Given the description of an element on the screen output the (x, y) to click on. 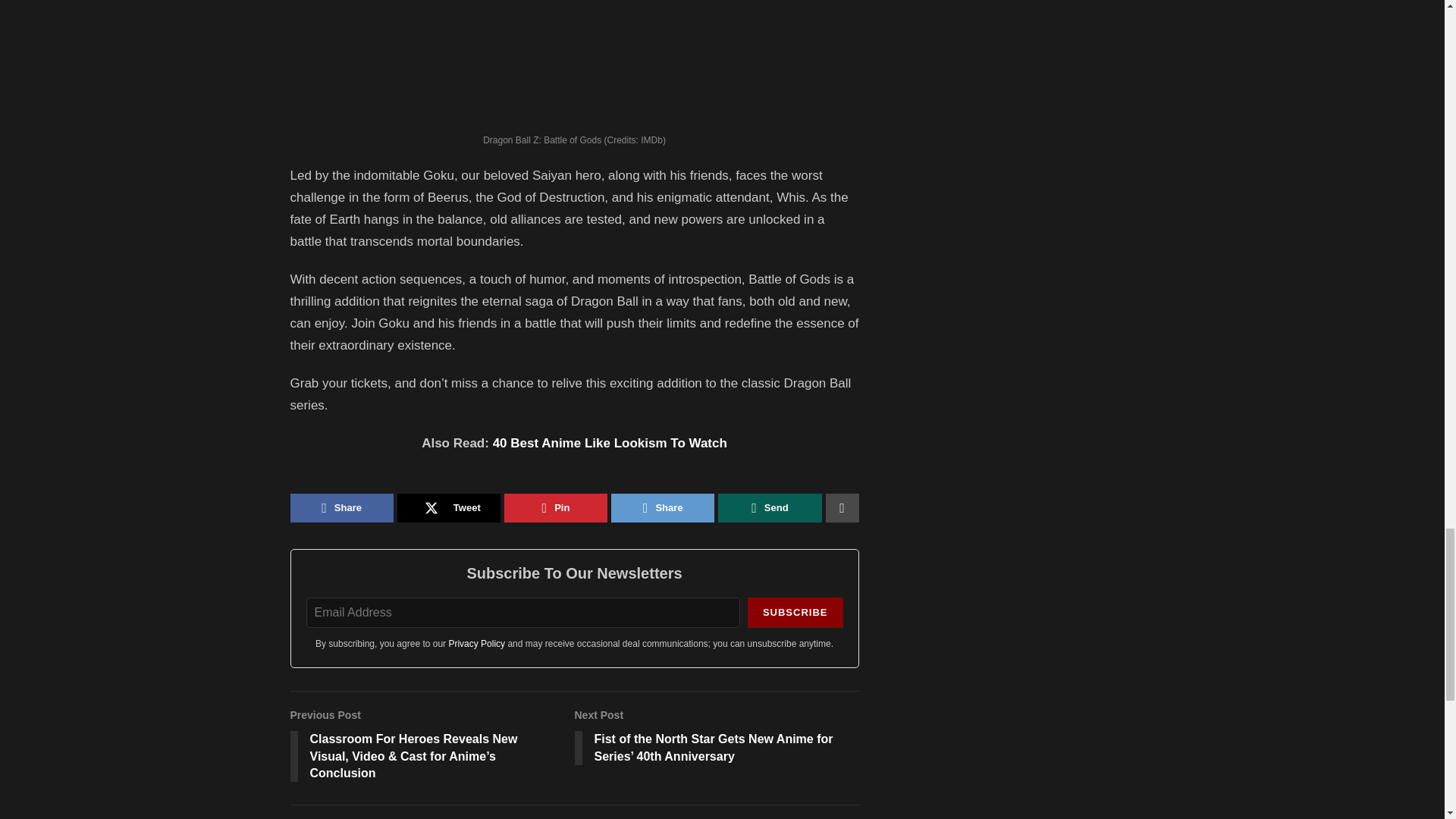
Tweet (448, 507)
Send (769, 507)
SUBSCRIBE (795, 612)
Share (662, 507)
Share (341, 507)
40 Best Anime Like Lookism To Watch (609, 442)
Privacy Policy (476, 643)
SUBSCRIBE (795, 612)
Pin (555, 507)
